Given the description of an element on the screen output the (x, y) to click on. 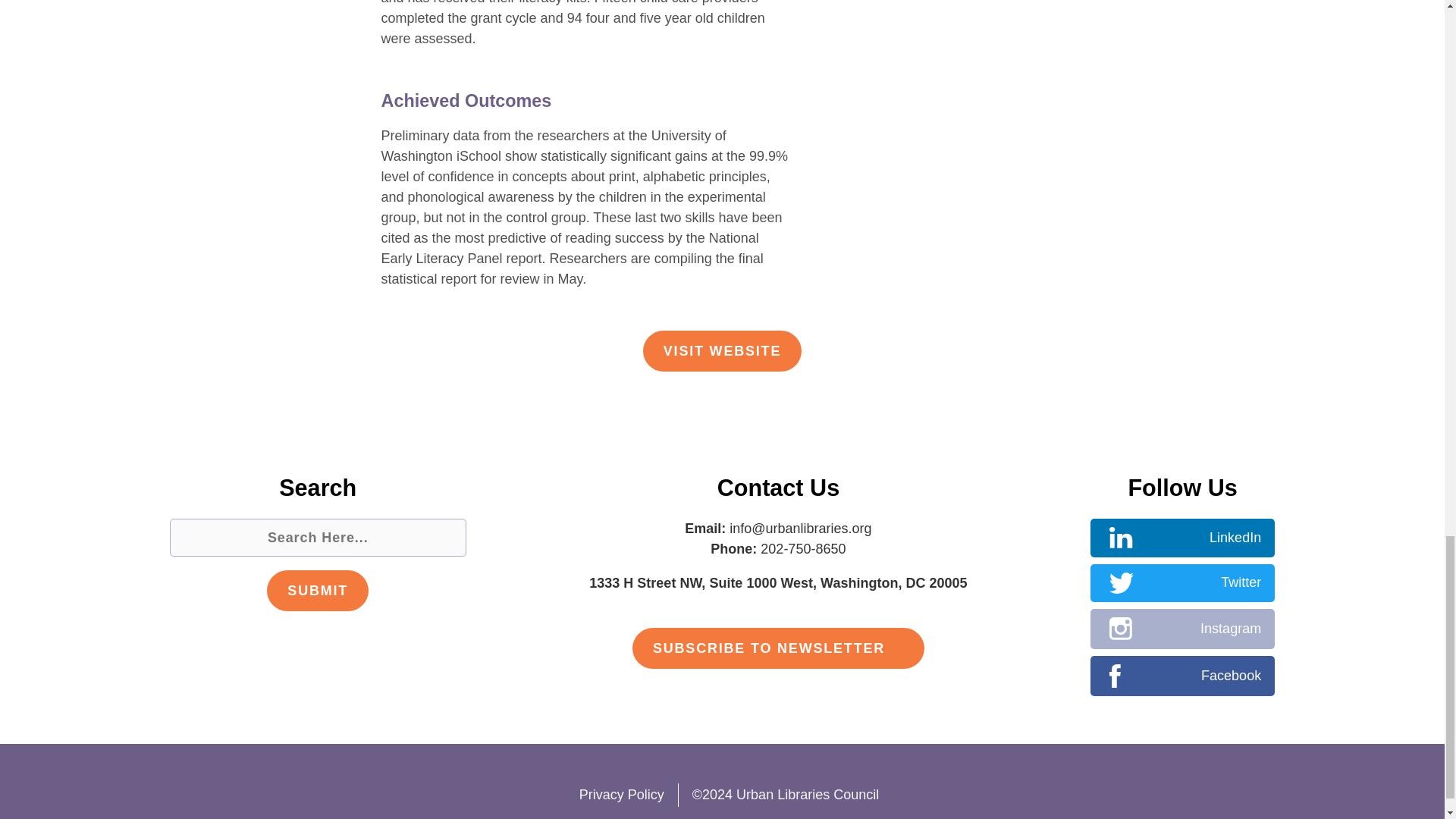
Twitter (1182, 583)
Instagram (1182, 629)
VISIT WEBSITE (722, 350)
Privacy Policy (614, 794)
Submit (317, 590)
SUBSCRIBE TO NEWSLETTER (777, 648)
LinkedIn (1182, 537)
Submit (317, 590)
Facebook (1182, 676)
